Given the description of an element on the screen output the (x, y) to click on. 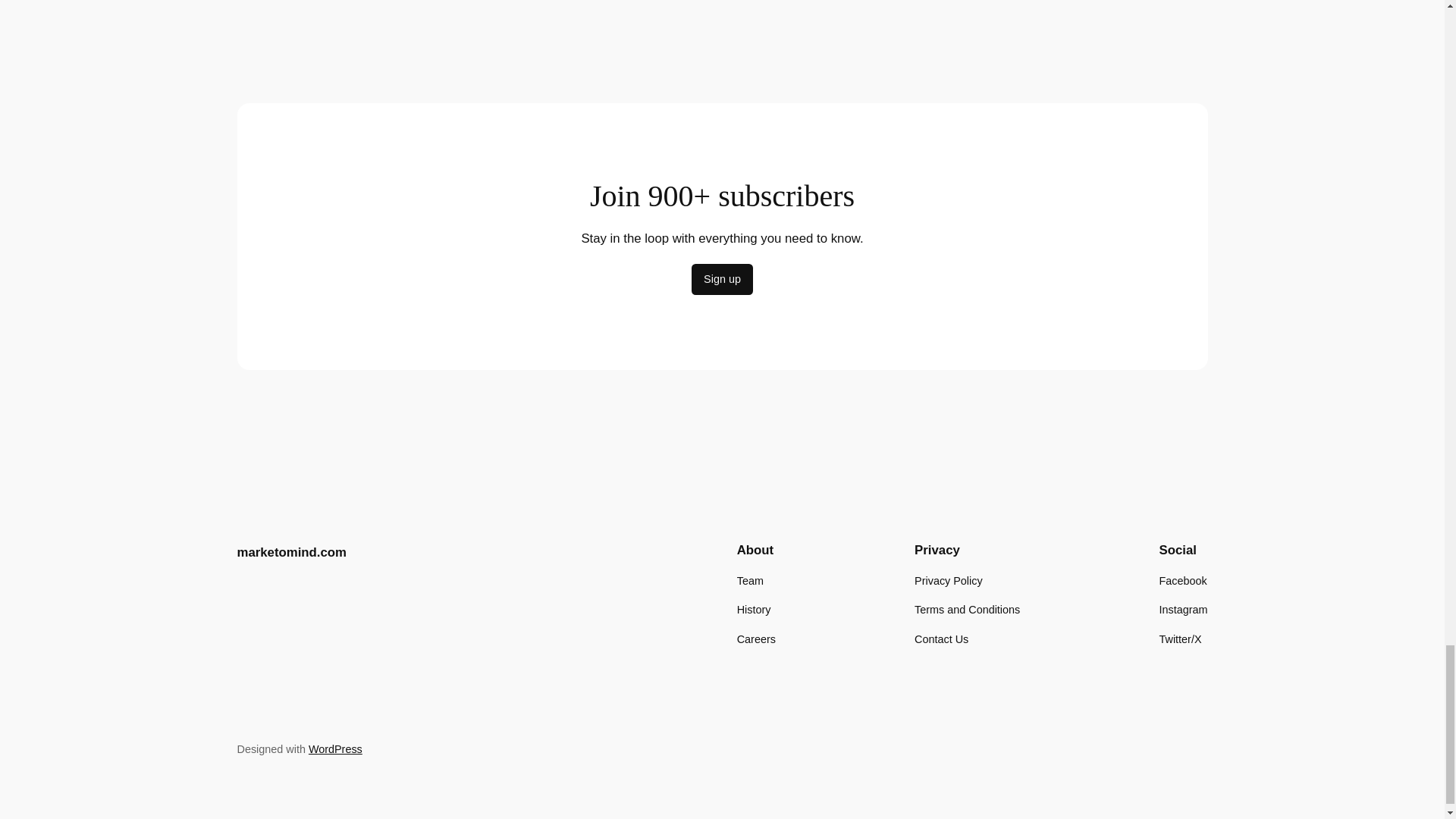
Team (749, 580)
Privacy Policy (948, 580)
Instagram (1182, 609)
Terms and Conditions (967, 609)
Contact Us (941, 638)
History (753, 609)
Sign up (721, 279)
Facebook (1182, 580)
marketomind.com (290, 551)
Careers (756, 638)
